Given the description of an element on the screen output the (x, y) to click on. 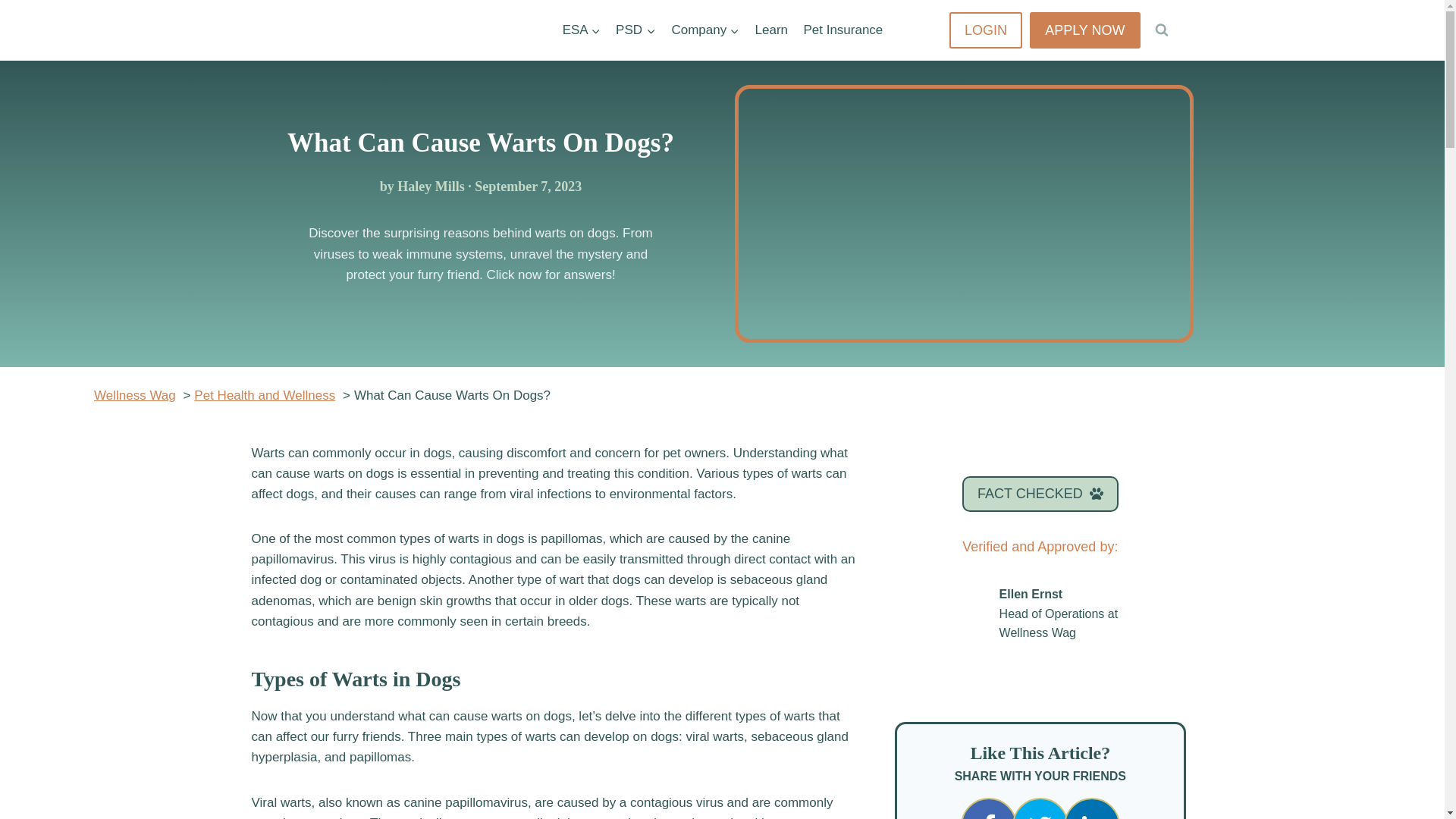
Company (704, 30)
Wellness Wag (135, 395)
Pet Insurance (841, 30)
ESA (581, 30)
PSD (635, 30)
Pet Health and Wellness (263, 395)
APPLY NOW (1084, 29)
Learn (770, 30)
LOGIN (985, 29)
